Given the description of an element on the screen output the (x, y) to click on. 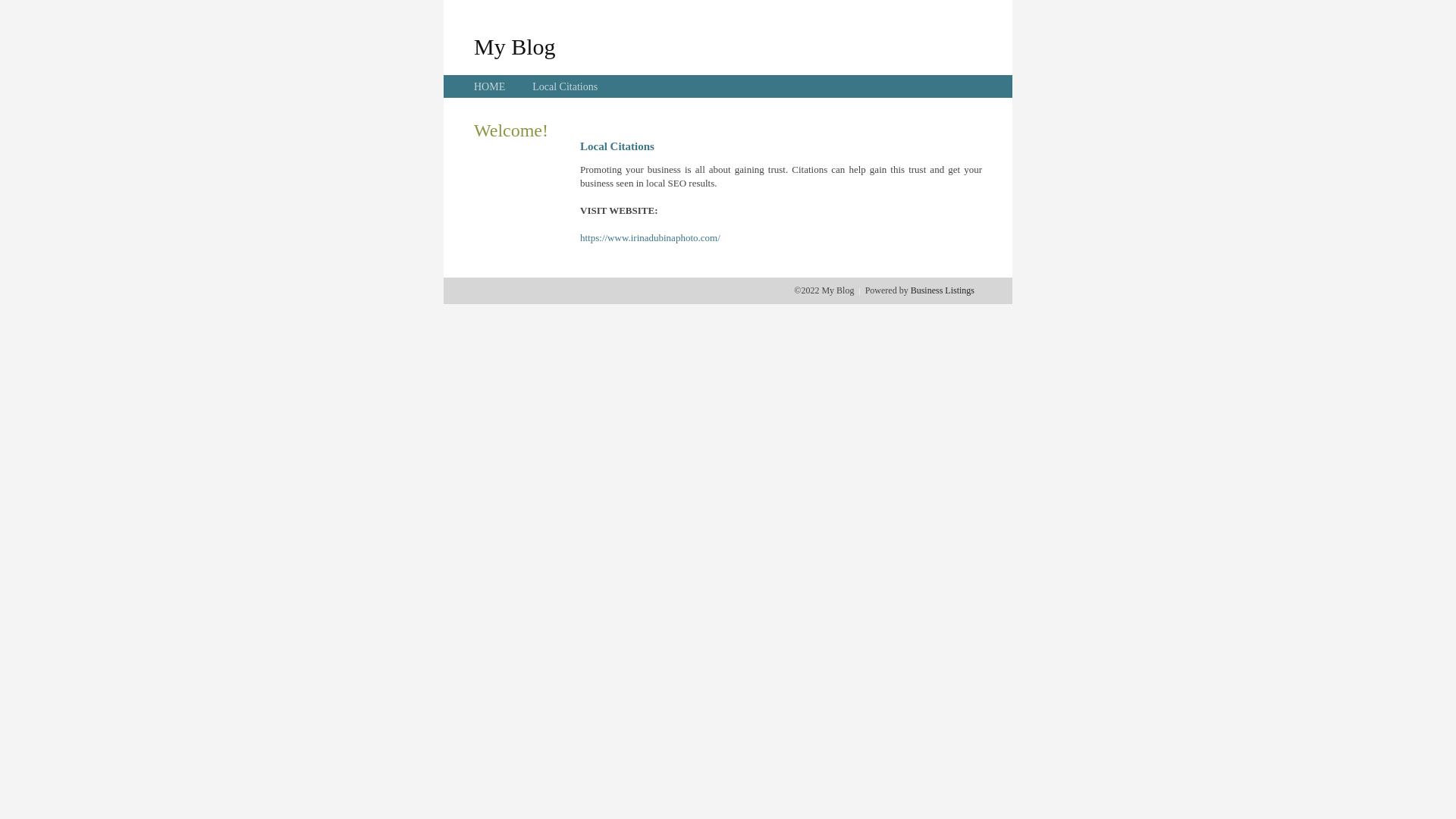
Business Listings Element type: text (942, 290)
HOME Element type: text (489, 86)
https://www.irinadubinaphoto.com/ Element type: text (650, 237)
My Blog Element type: text (514, 46)
Local Citations Element type: text (564, 86)
